Given the description of an element on the screen output the (x, y) to click on. 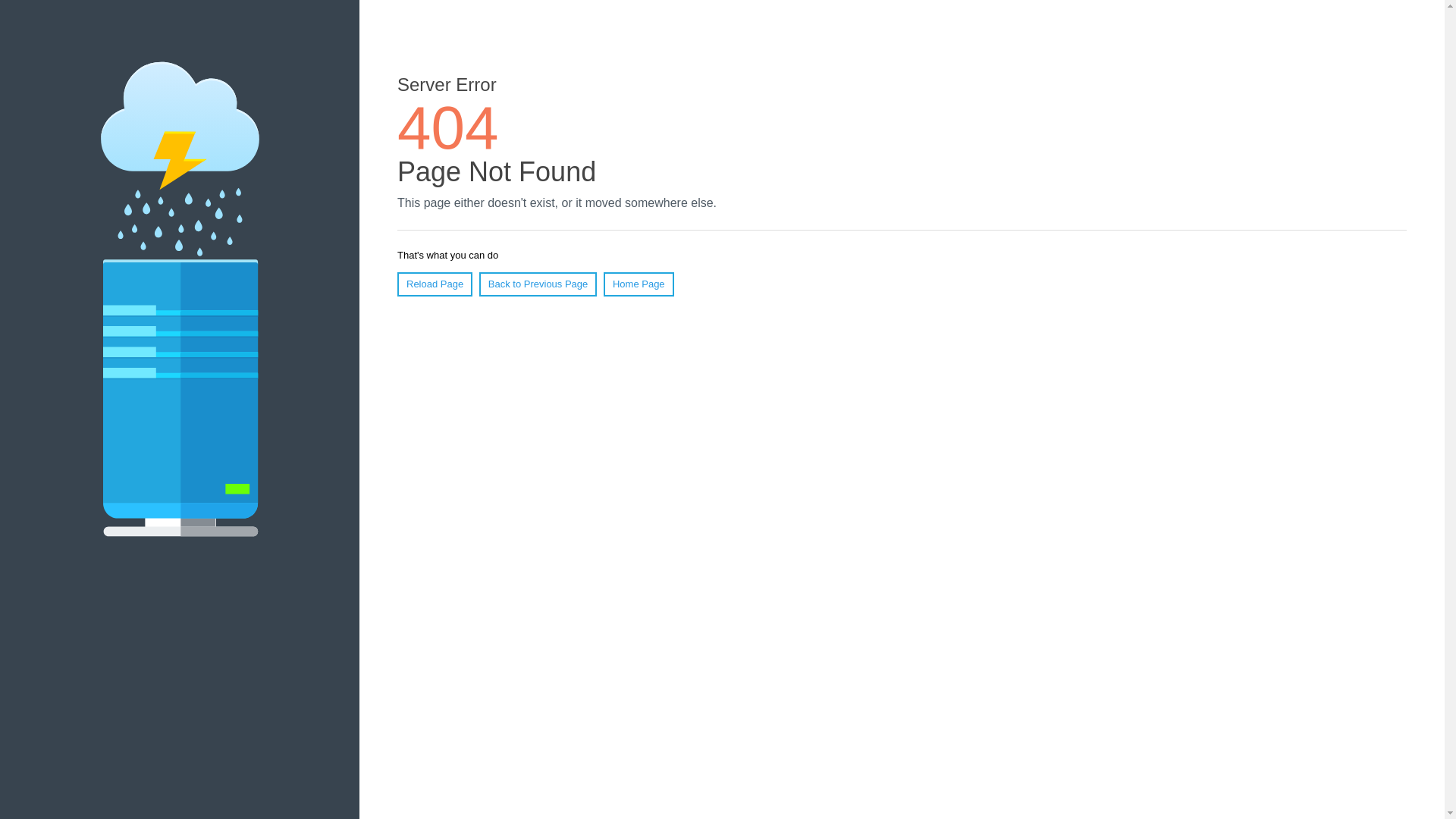
Reload Page Element type: text (434, 284)
Back to Previous Page Element type: text (538, 284)
Home Page Element type: text (638, 284)
